Given the description of an element on the screen output the (x, y) to click on. 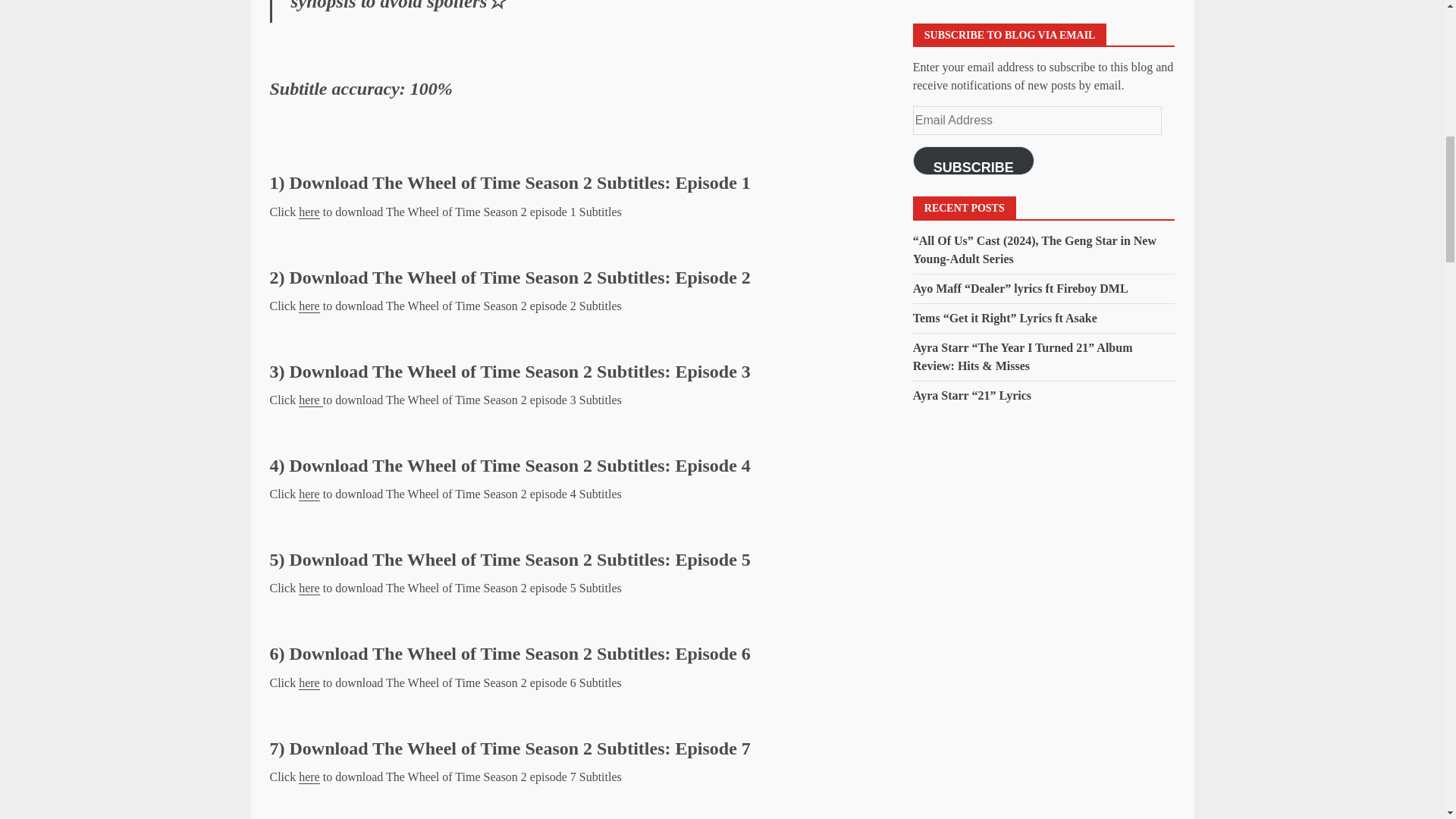
here (309, 494)
here (309, 683)
here (309, 305)
here (309, 776)
here (310, 400)
here (309, 212)
here (309, 588)
